Given the description of an element on the screen output the (x, y) to click on. 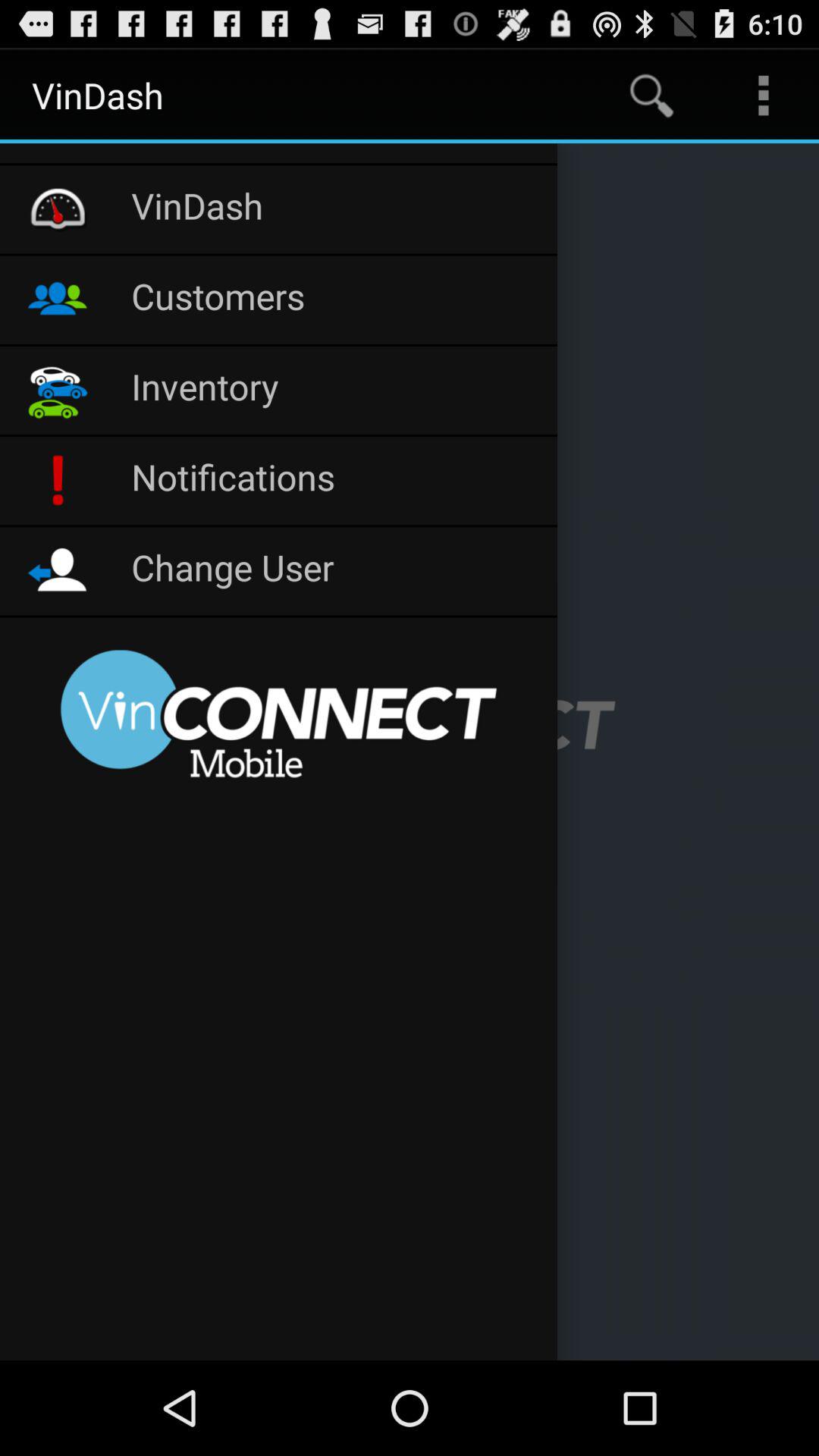
flip until the change user item (336, 570)
